Given the description of an element on the screen output the (x, y) to click on. 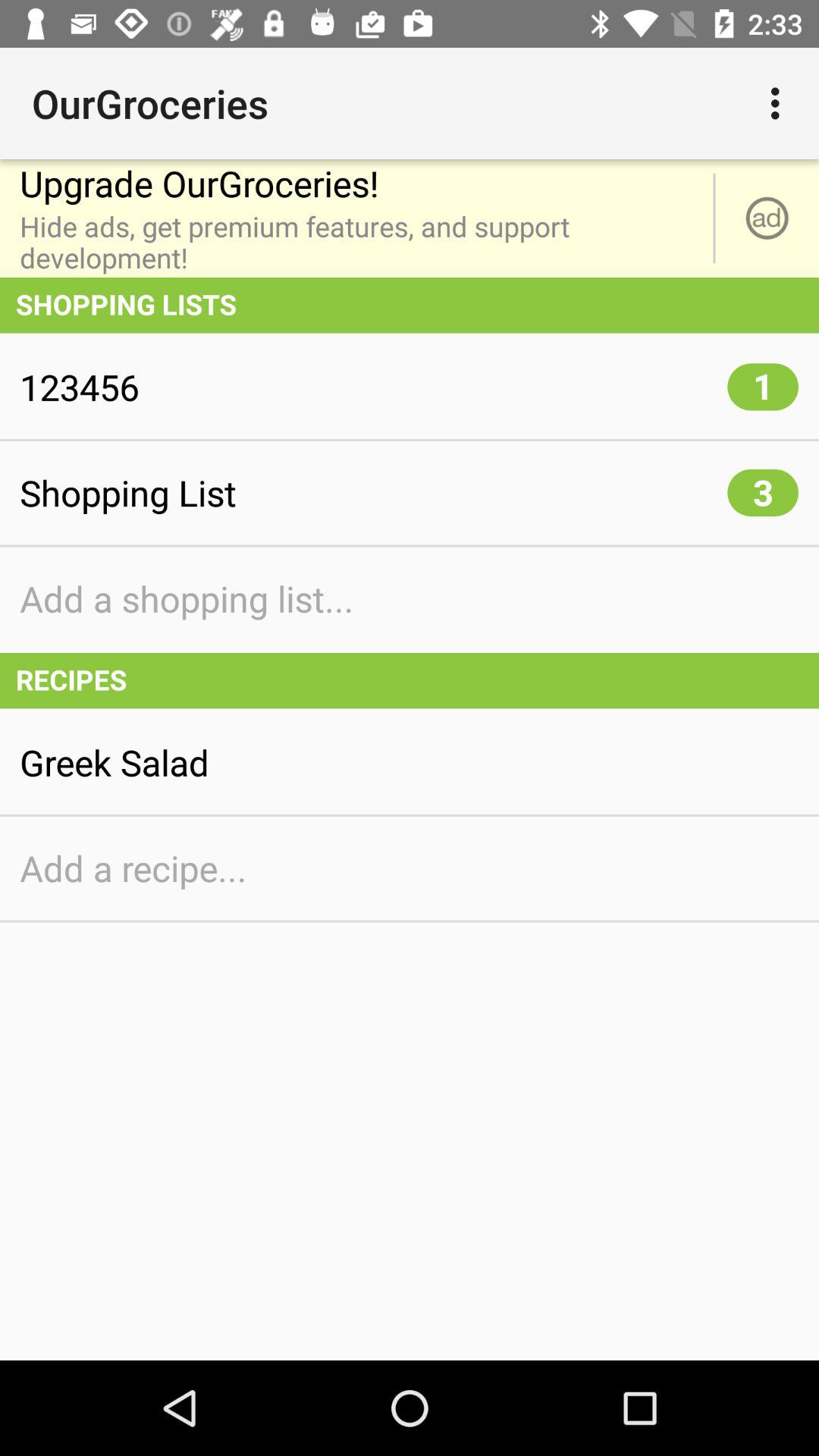
launch item above the shopping lists item (767, 218)
